Given the description of an element on the screen output the (x, y) to click on. 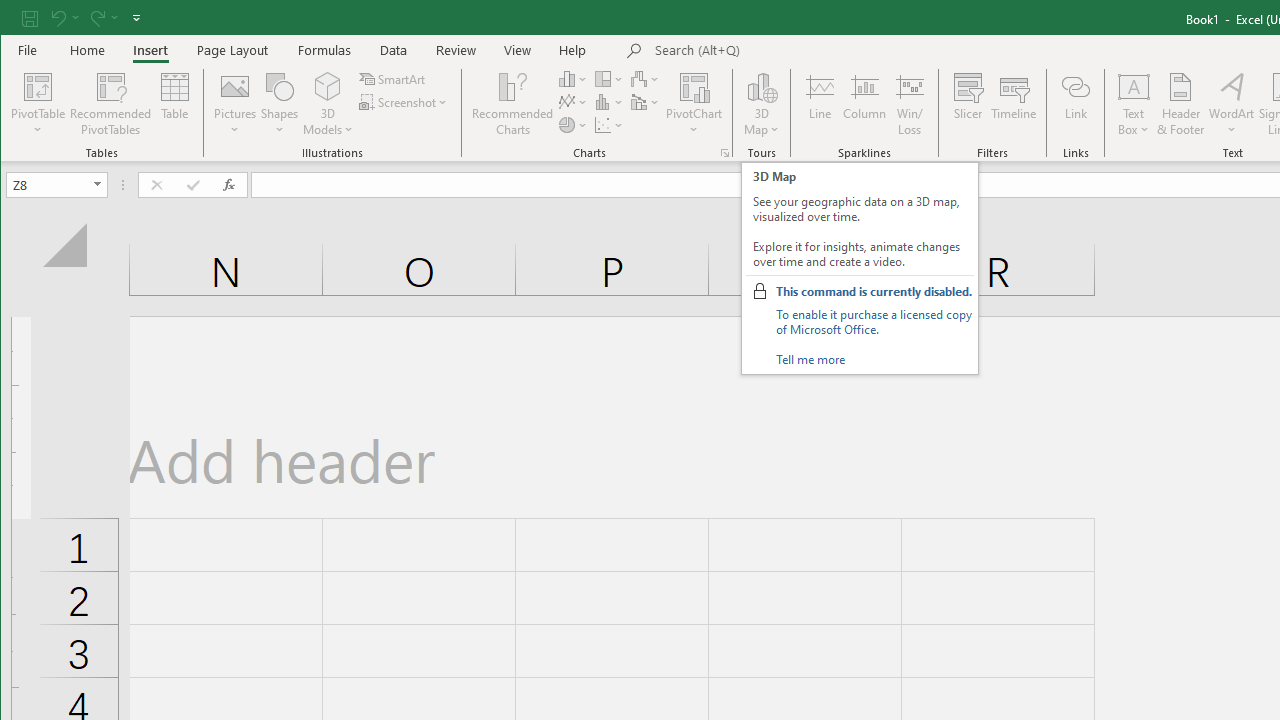
Insert Waterfall, Funnel, Stock, Surface, or Radar Chart (646, 78)
